Given the description of an element on the screen output the (x, y) to click on. 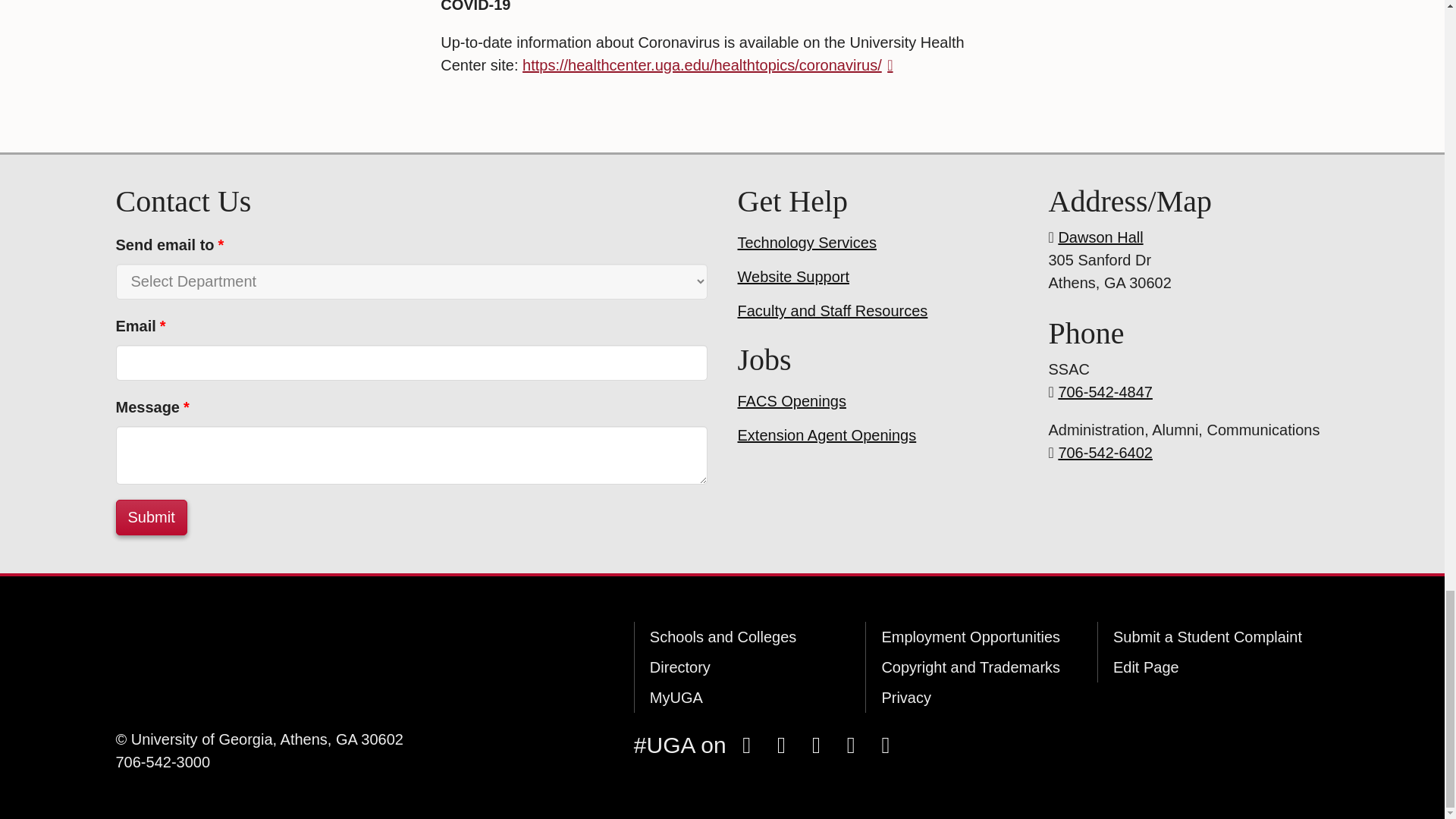
Snapchat (816, 744)
LinkedIn (884, 744)
Facebook (746, 744)
Instagram (781, 744)
YouTube (849, 744)
